Given the description of an element on the screen output the (x, y) to click on. 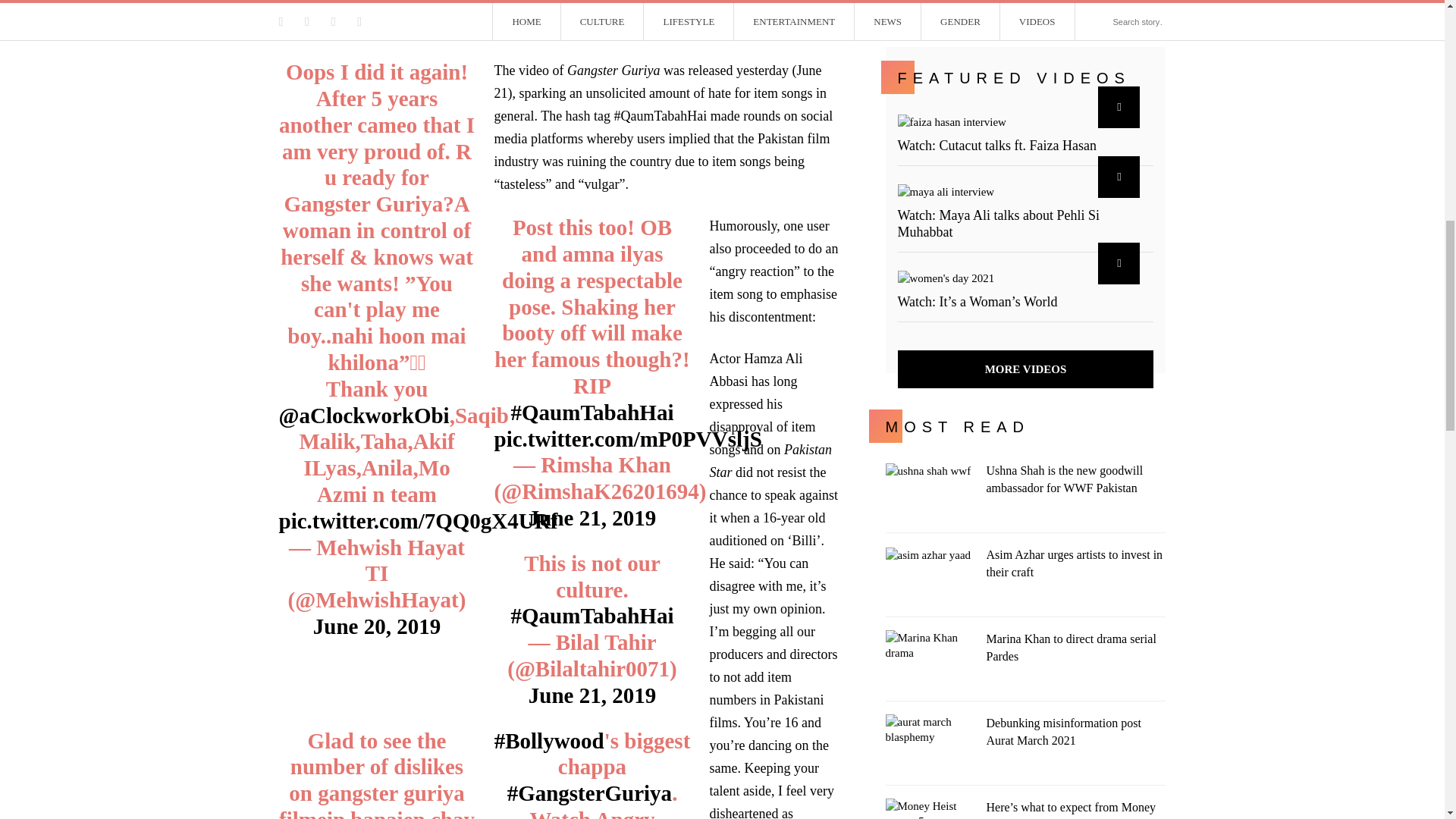
June 21, 2019 (592, 517)
June 20, 2019 (377, 626)
June 21, 2019 (592, 695)
